Given the description of an element on the screen output the (x, y) to click on. 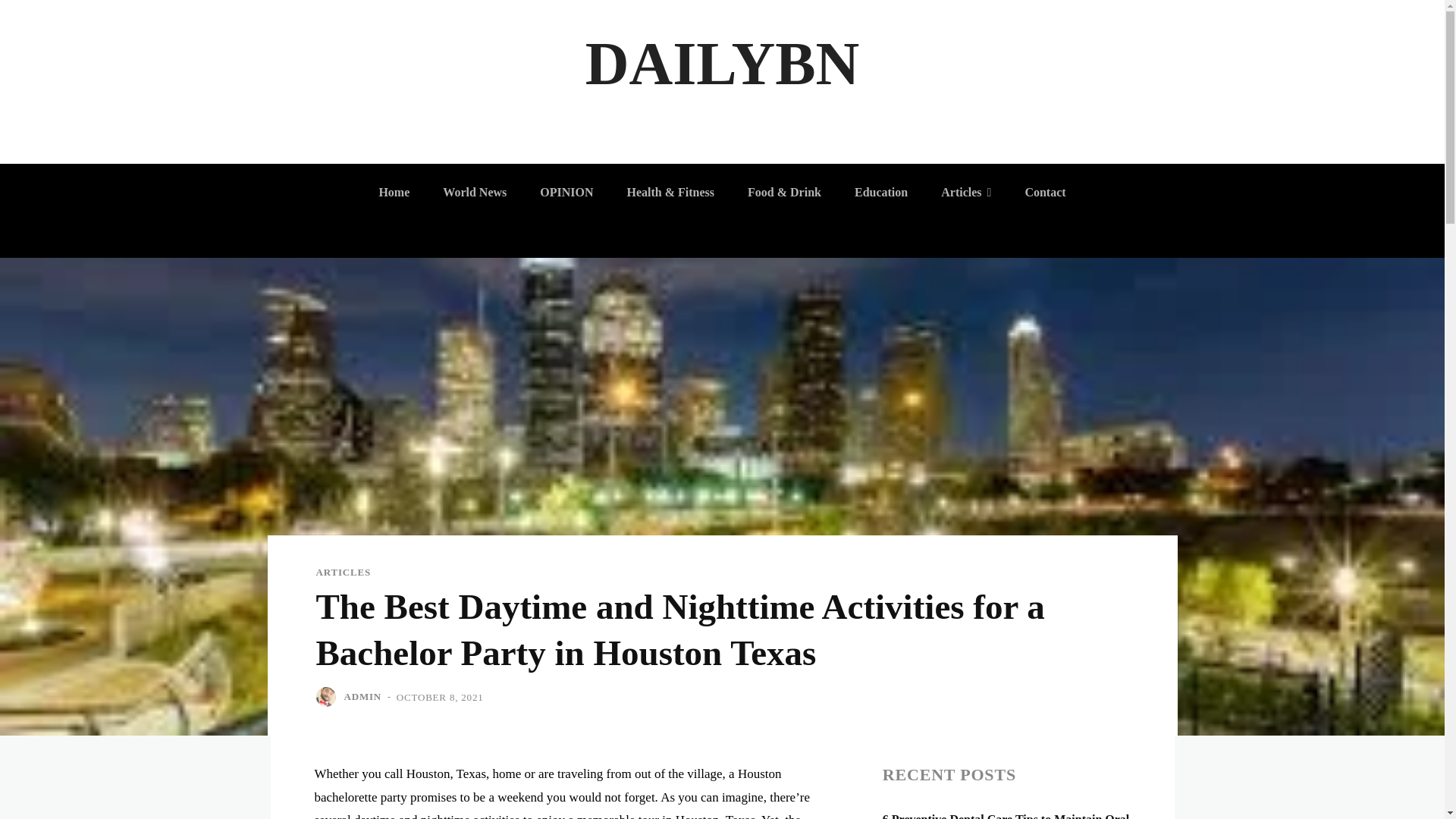
ARTICLES (342, 572)
Articles (965, 192)
DAILYBN (722, 63)
6 Preventive Dental Care Tips to Maintain Oral Hygiene (1005, 816)
World News (474, 192)
Admin (327, 696)
OPINION (566, 192)
6 Preventive Dental Care Tips to Maintain Oral Hygiene (1005, 816)
ADMIN (362, 696)
Education (881, 192)
